Given the description of an element on the screen output the (x, y) to click on. 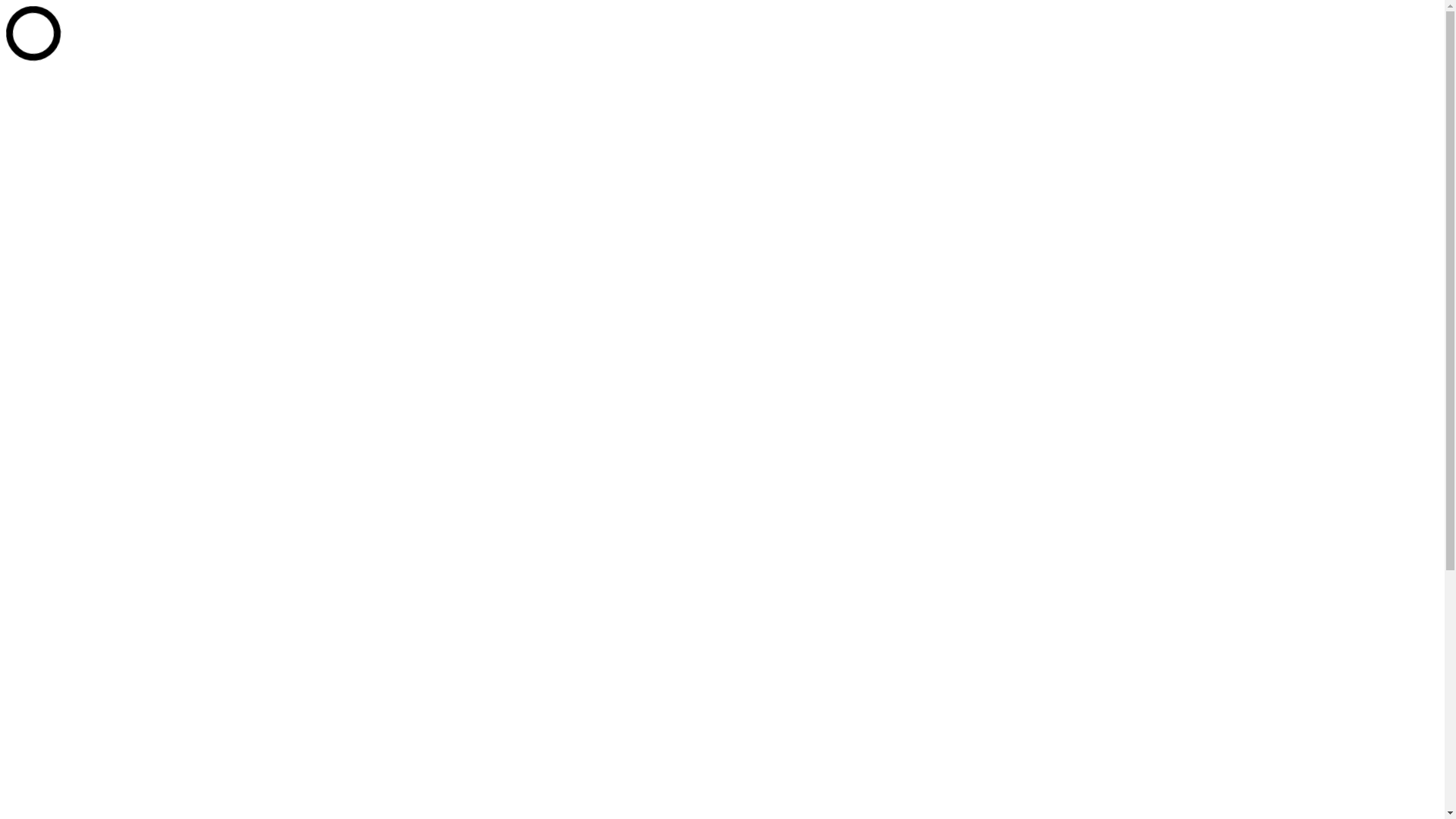
What is the Cost to Clean Up A Meth Lab? Element type: text (170, 278)
Linkedin page opens in new window Element type: text (277, 25)
Meth Lab Clean Up FAQ Element type: text (127, 305)
Meth Lab Clean Up Element type: text (114, 209)
Services Element type: text (56, 416)
email us Element type: text (180, 77)
Search form Element type: hover (73, 374)
How to clean a meth lab house Element type: text (141, 525)
enquiries@nlr.com.au Element type: text (106, 77)
Projects & Resources Element type: text (88, 264)
Meth Residue Decontamination Element type: text (143, 429)
Call Now Element type: text (29, 77)
Contact Element type: text (55, 319)
Go! Element type: text (20, 390)
About Us Element type: text (59, 250)
Projects & Resources Element type: text (88, 498)
Skip to content Element type: text (42, 12)
How to clean a meth lab house Element type: text (141, 291)
Meth Lab Clean Up Element type: text (114, 443)
Contact Element type: text (55, 552)
Home Meth Test Kit Element type: text (116, 470)
Home Meth Test Kit Element type: text (116, 237)
Meth Lab Clean Up FAQ Element type: text (127, 539)
1300 214 397 Element type: text (71, 566)
Facebook page opens in new window Element type: text (97, 25)
Meth Testing & Inspection Element type: text (131, 223)
Services Element type: text (56, 182)
Go! Element type: text (810, 772)
About Us Element type: text (59, 484)
Meth Residue Decontamination Element type: text (143, 196)
5 Star Reviews on Google Element type: text (69, 51)
Home Element type: text (50, 666)
Meth Testing & Inspection Element type: text (131, 457)
1300 214 397 Element type: text (71, 332)
What is the Cost to Clean Up A Meth Lab? Element type: text (170, 511)
